Given the description of an element on the screen output the (x, y) to click on. 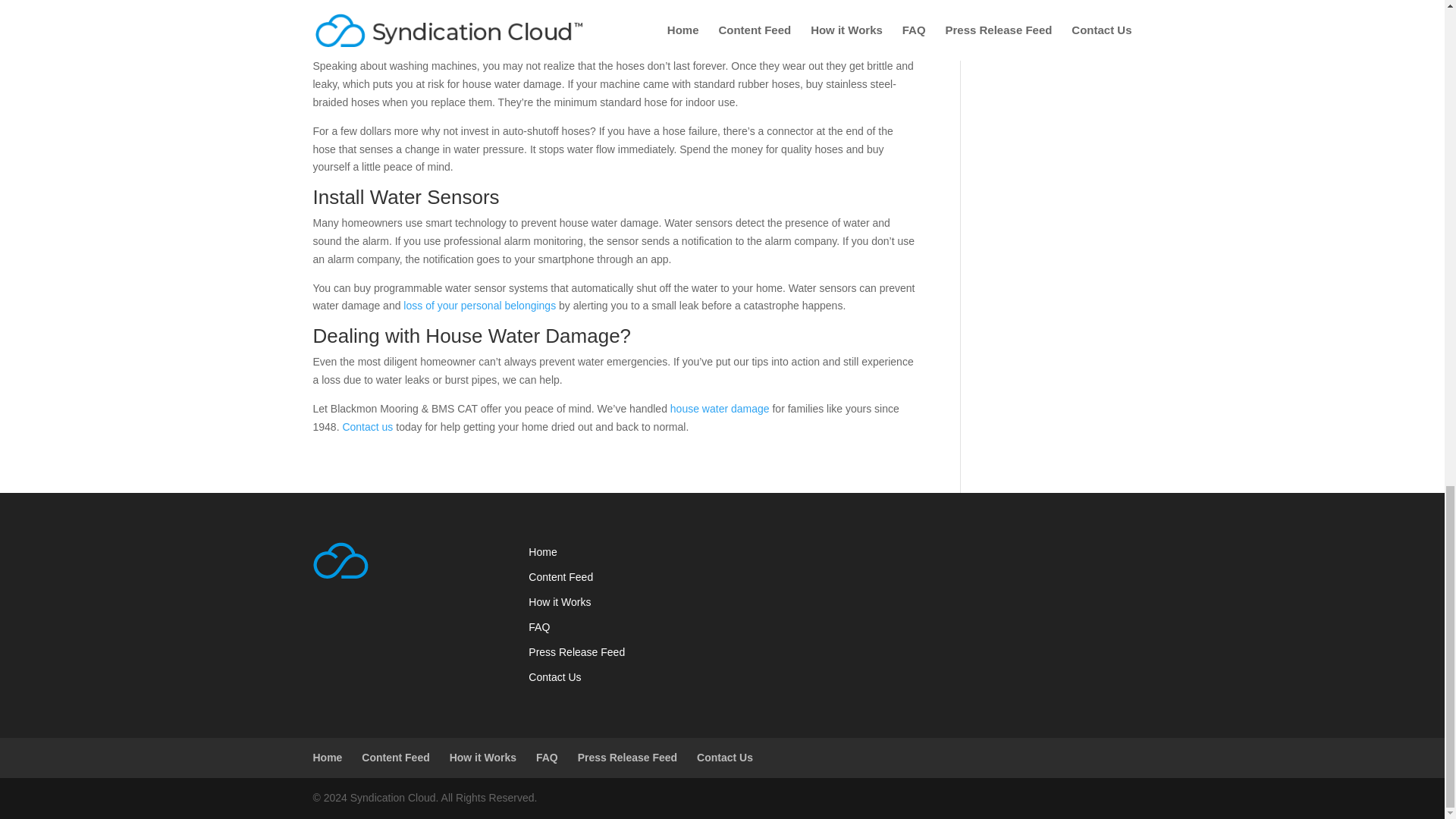
Home (542, 551)
How it Works (482, 757)
Contact Us (554, 676)
Content Feed (560, 576)
Press Release Feed (576, 652)
FAQ (546, 757)
FAQ (539, 626)
Press Release Feed (628, 757)
loss of your personal belongings (479, 305)
How it Works (559, 602)
Content Feed (395, 757)
Home (327, 757)
house water damage (719, 408)
Contact us (367, 426)
